Given the description of an element on the screen output the (x, y) to click on. 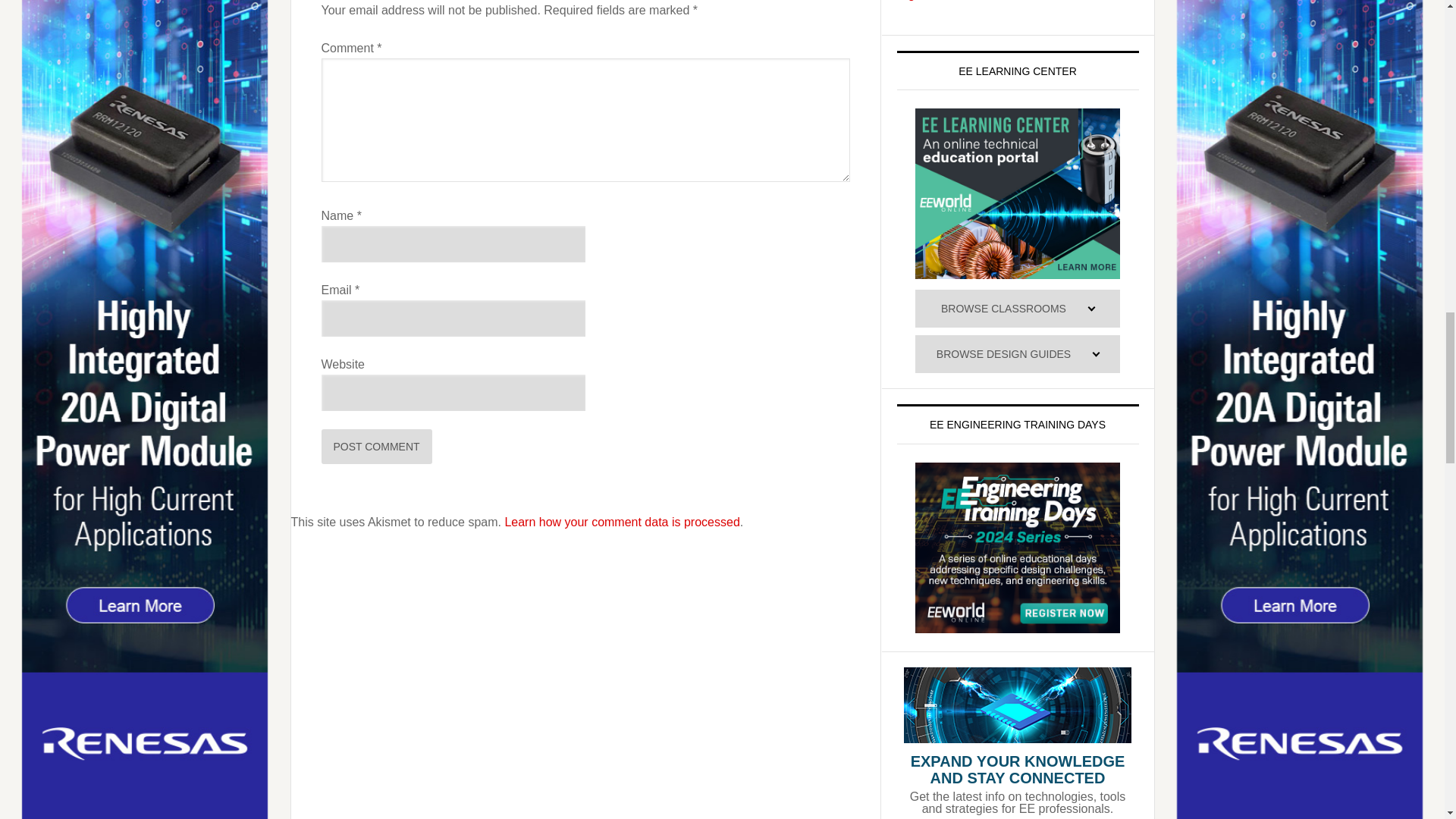
Post Comment (376, 446)
